Given the description of an element on the screen output the (x, y) to click on. 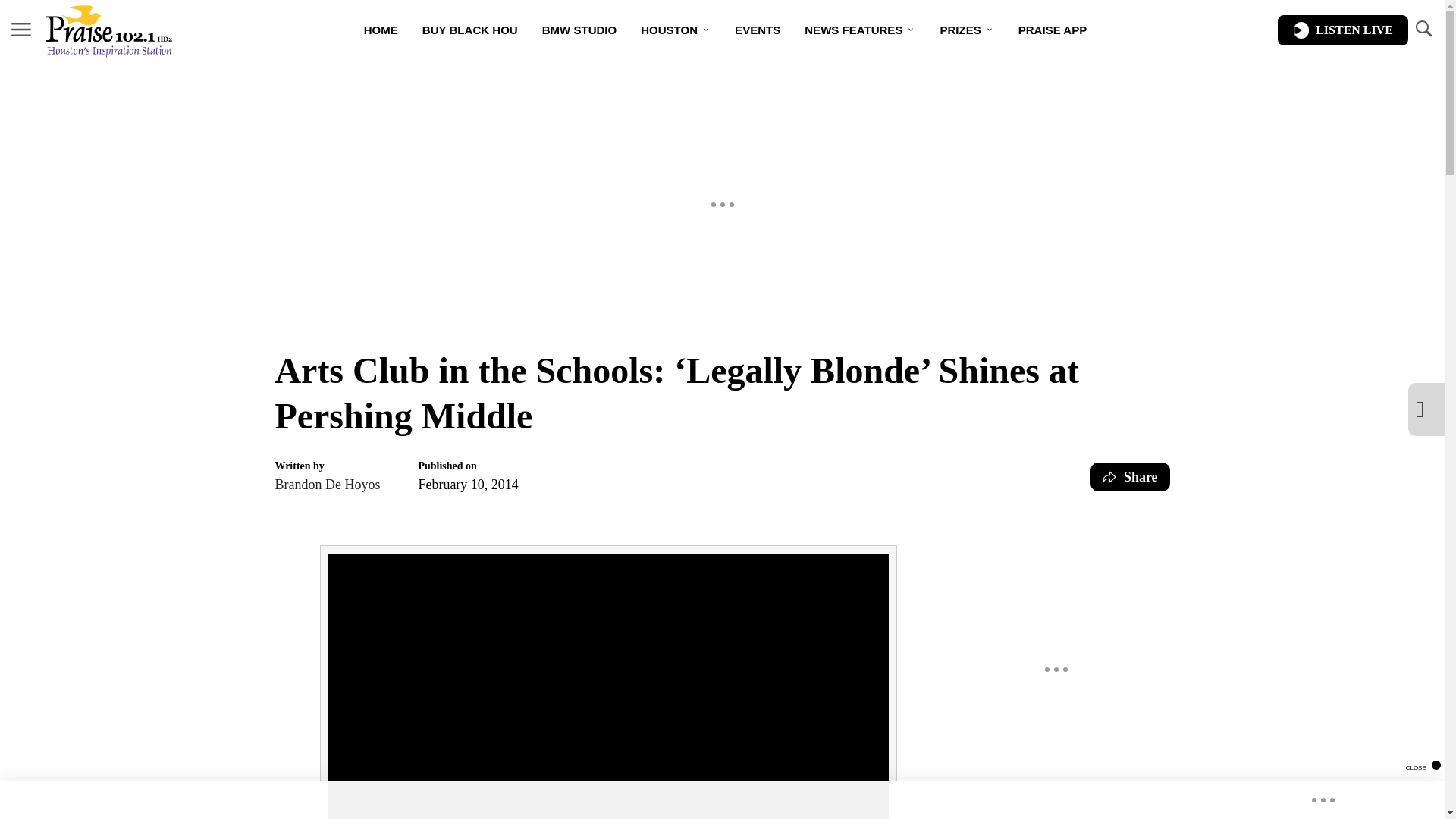
EVENTS (757, 30)
PRIZES (966, 30)
HOUSTON (675, 30)
NEWS FEATURES (859, 30)
LISTEN LIVE (1342, 30)
PRAISE APP (1052, 30)
HOME (381, 30)
TOGGLE SEARCH (1422, 30)
TOGGLE SEARCH (1422, 28)
BMW STUDIO (578, 30)
